Given the description of an element on the screen output the (x, y) to click on. 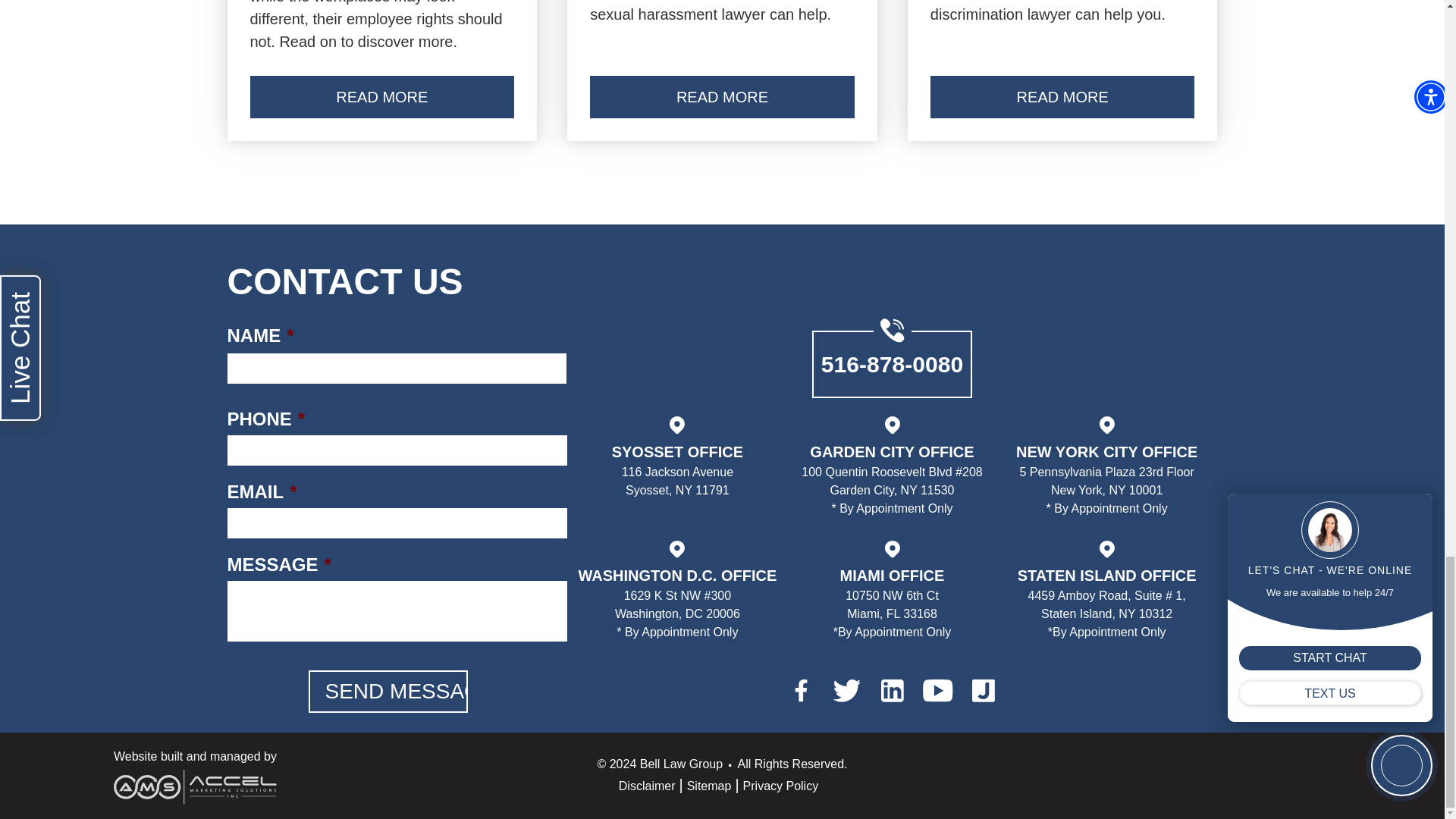
Send Message (387, 691)
